Given the description of an element on the screen output the (x, y) to click on. 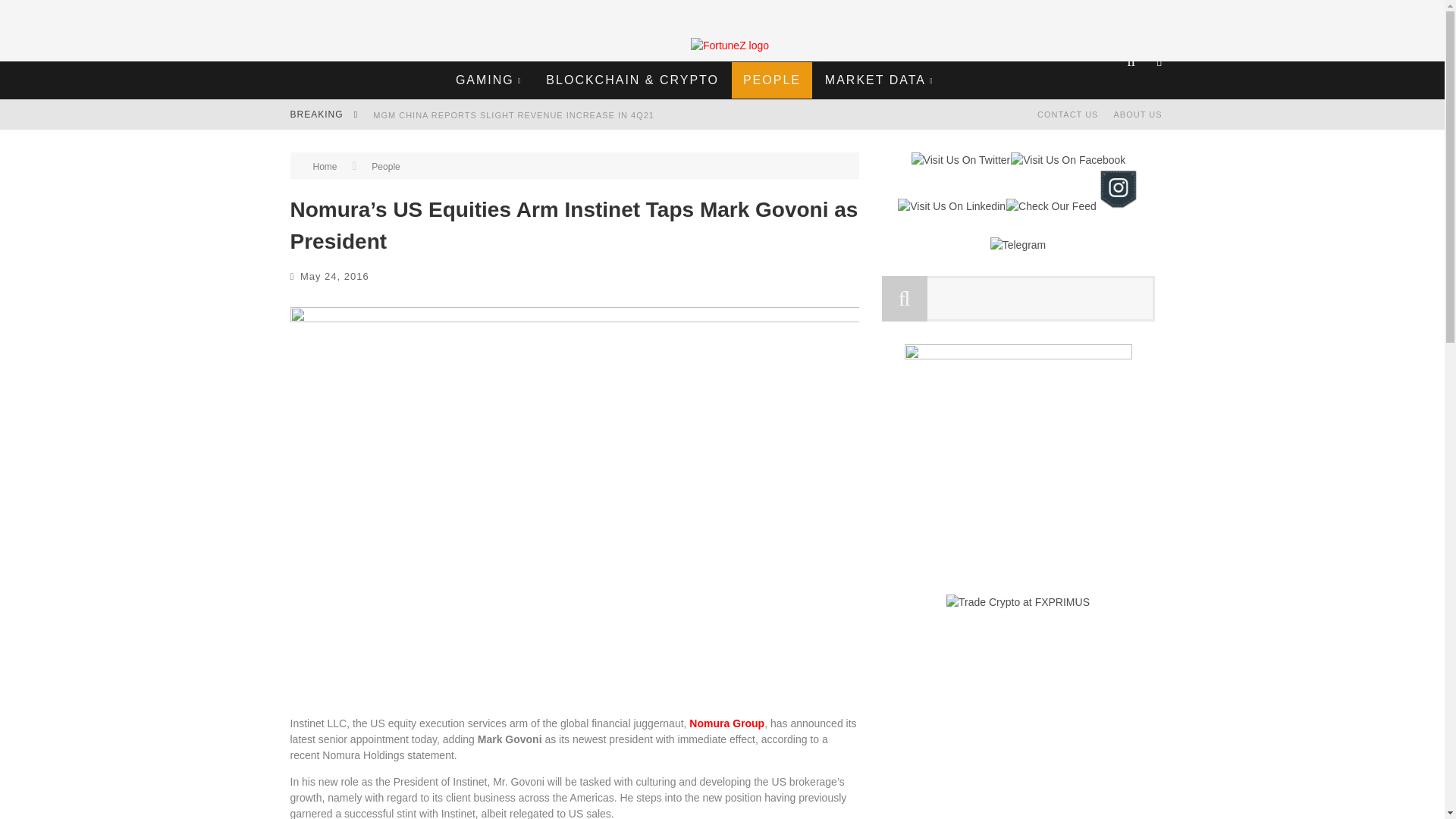
Visit Us On Facebook (1067, 159)
View all posts in People (384, 166)
PEOPLE (772, 80)
Log In (721, 463)
Visit Us On Instagram (1117, 205)
Visit Us On Linkedin (951, 205)
MGM China Reports Slight Revenue Increase In 4Q21 (512, 114)
Visit Us On Twitter (960, 159)
Check Our Feed (1051, 205)
GAMING (489, 80)
